Given the description of an element on the screen output the (x, y) to click on. 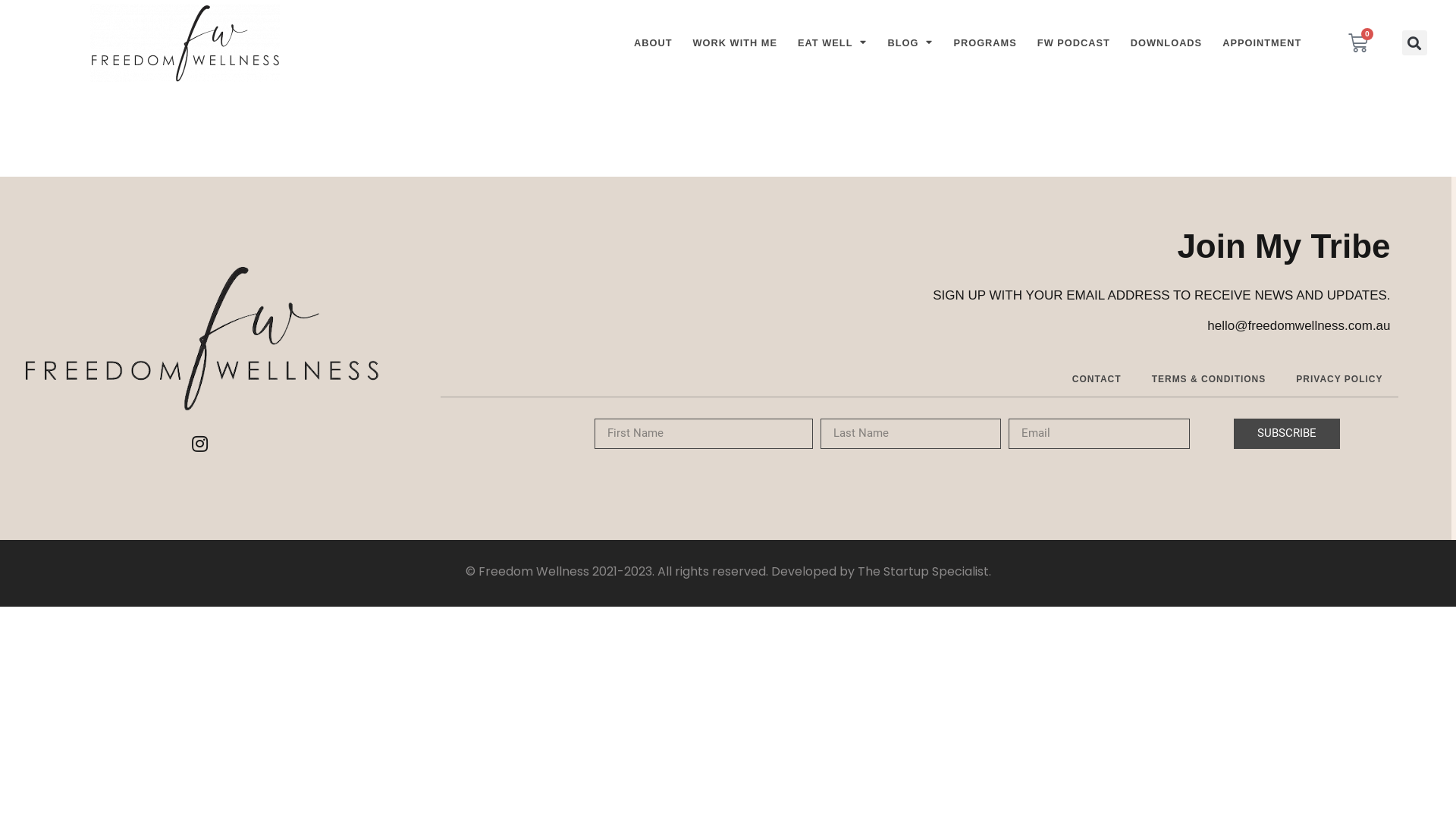
SUBSCRIBE Element type: text (1286, 433)
CONTACT Element type: text (1096, 378)
BLOG Element type: text (909, 42)
0 Element type: text (1358, 43)
WORK WITH ME Element type: text (735, 42)
APPOINTMENT Element type: text (1261, 42)
PRIVACY POLICY Element type: text (1338, 378)
DOWNLOADS Element type: text (1165, 42)
EAT WELL Element type: text (831, 42)
FW PODCAST Element type: text (1073, 42)
TERMS & CONDITIONS Element type: text (1208, 378)
ABOUT Element type: text (652, 42)
lo-removebg-preview Element type: hover (184, 42)
PROGRAMS Element type: text (984, 42)
